Given the description of an element on the screen output the (x, y) to click on. 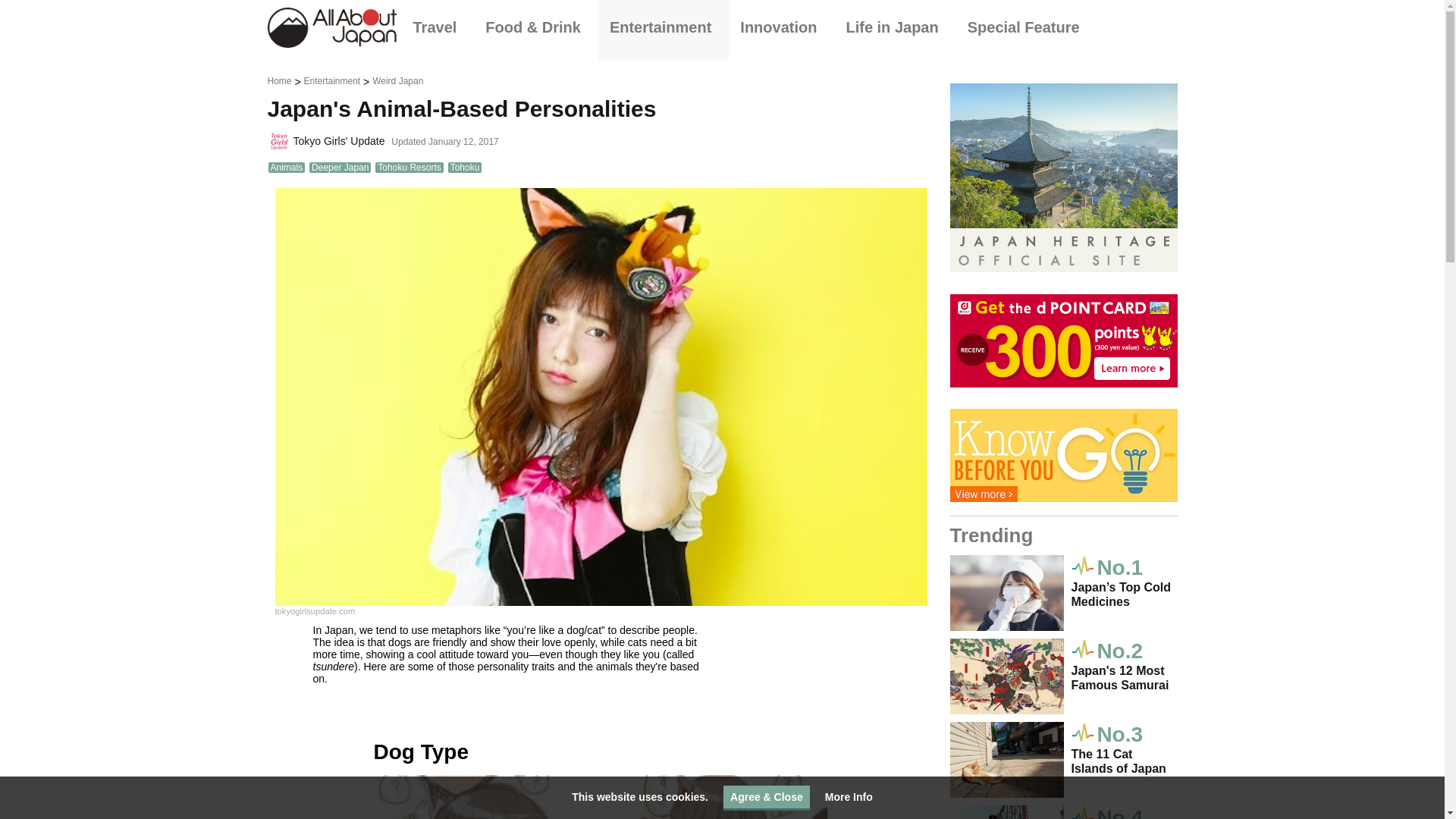
Entertainment (663, 27)
Innovation (781, 27)
Travel (437, 27)
